Given the description of an element on the screen output the (x, y) to click on. 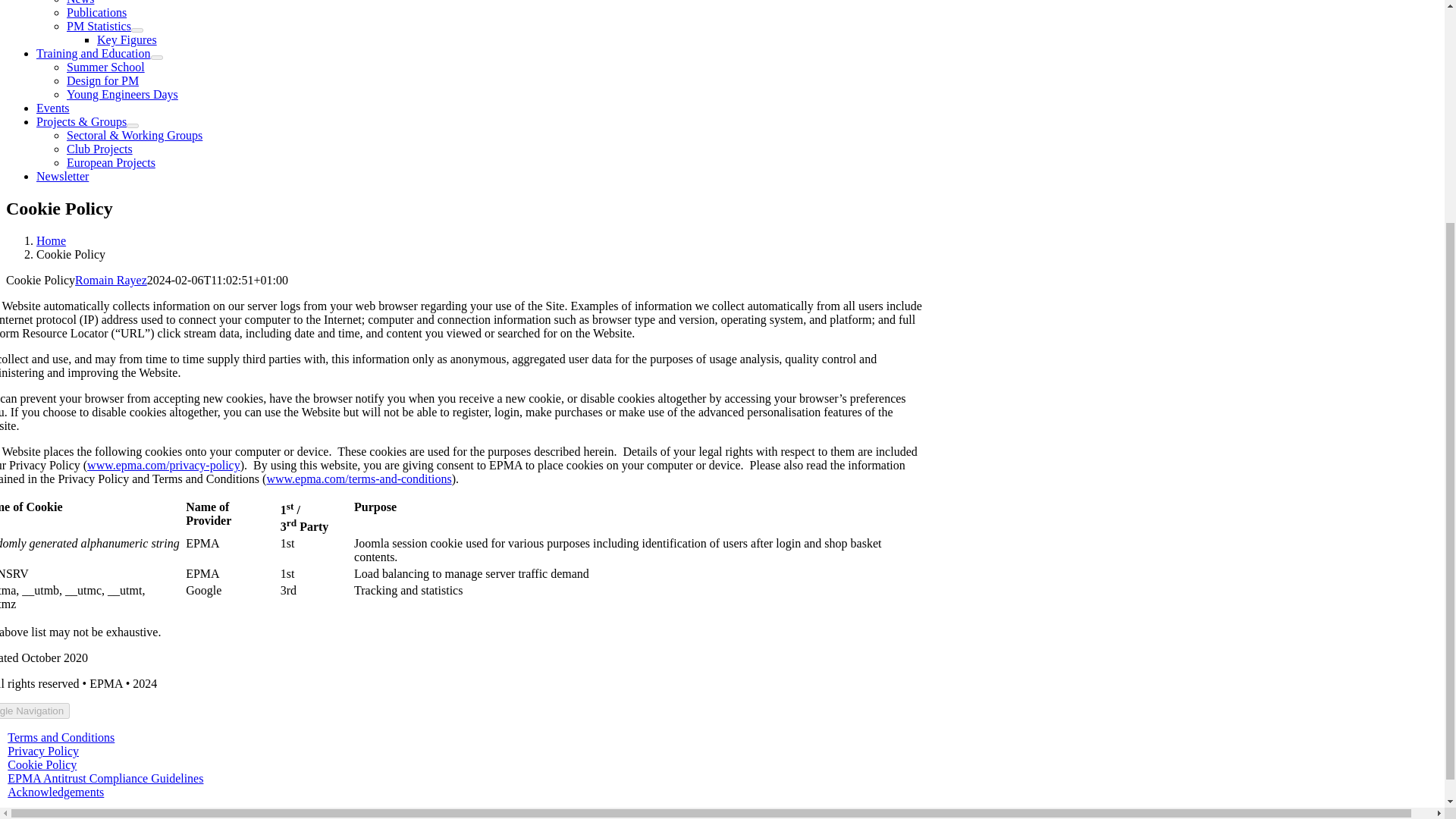
Summer School (105, 66)
Design for PM (102, 80)
Home (50, 240)
Club Projects (99, 148)
Publications (96, 11)
Newsletter (62, 175)
Posts by Romain Rayez (111, 279)
PM Statistics (98, 25)
European Projects (110, 162)
Young Engineers Days (121, 93)
Events (52, 107)
Key Figures (127, 39)
Romain Rayez (111, 279)
News (80, 2)
Training and Education (93, 52)
